Given the description of an element on the screen output the (x, y) to click on. 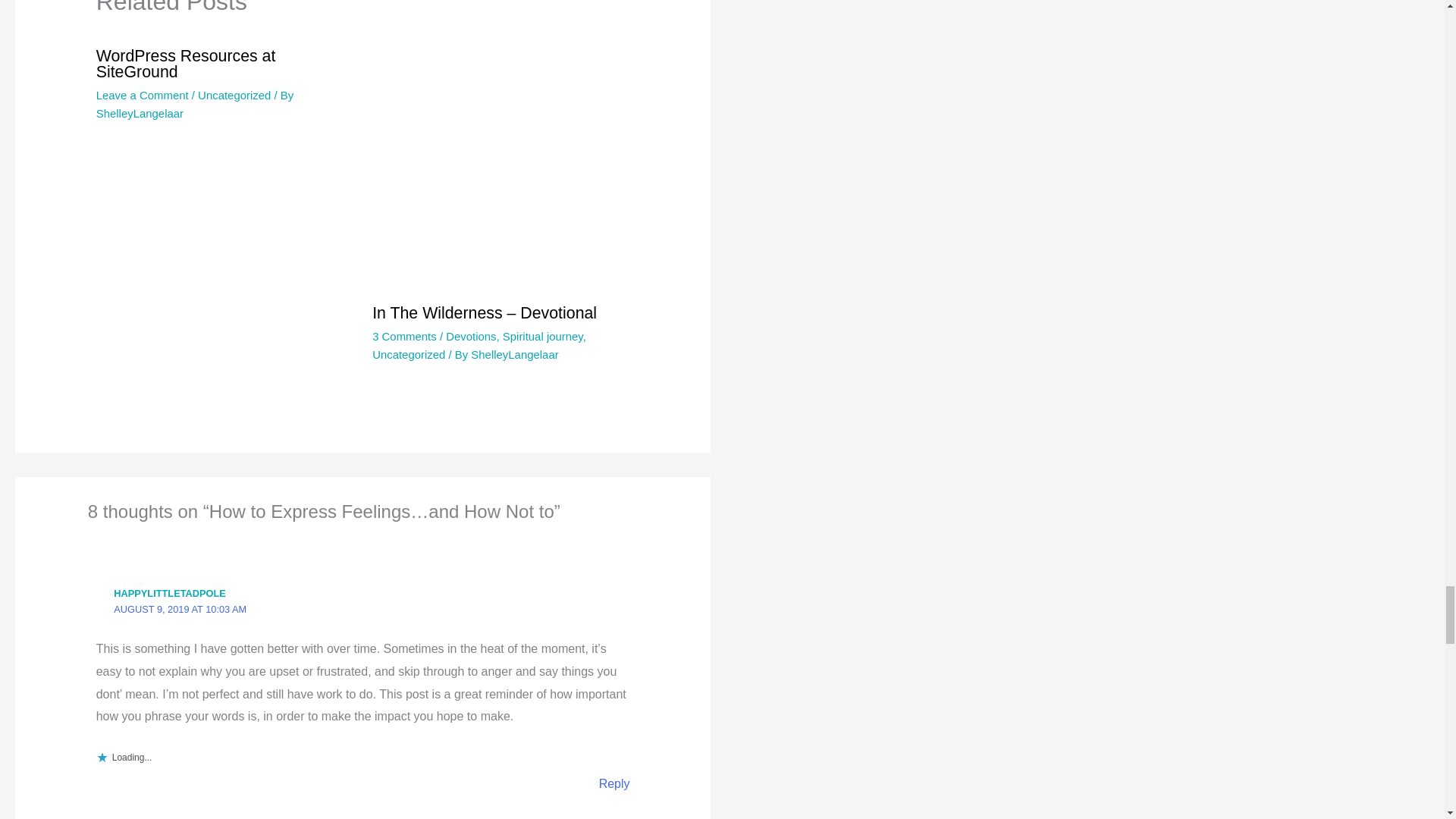
View all posts by ShelleyLangelaar (139, 113)
Leave a Comment (142, 94)
Uncategorized (234, 94)
View all posts by ShelleyLangelaar (513, 354)
3 Comments (404, 336)
WordPress Resources at SiteGround (186, 63)
ShelleyLangelaar (139, 113)
